Given the description of an element on the screen output the (x, y) to click on. 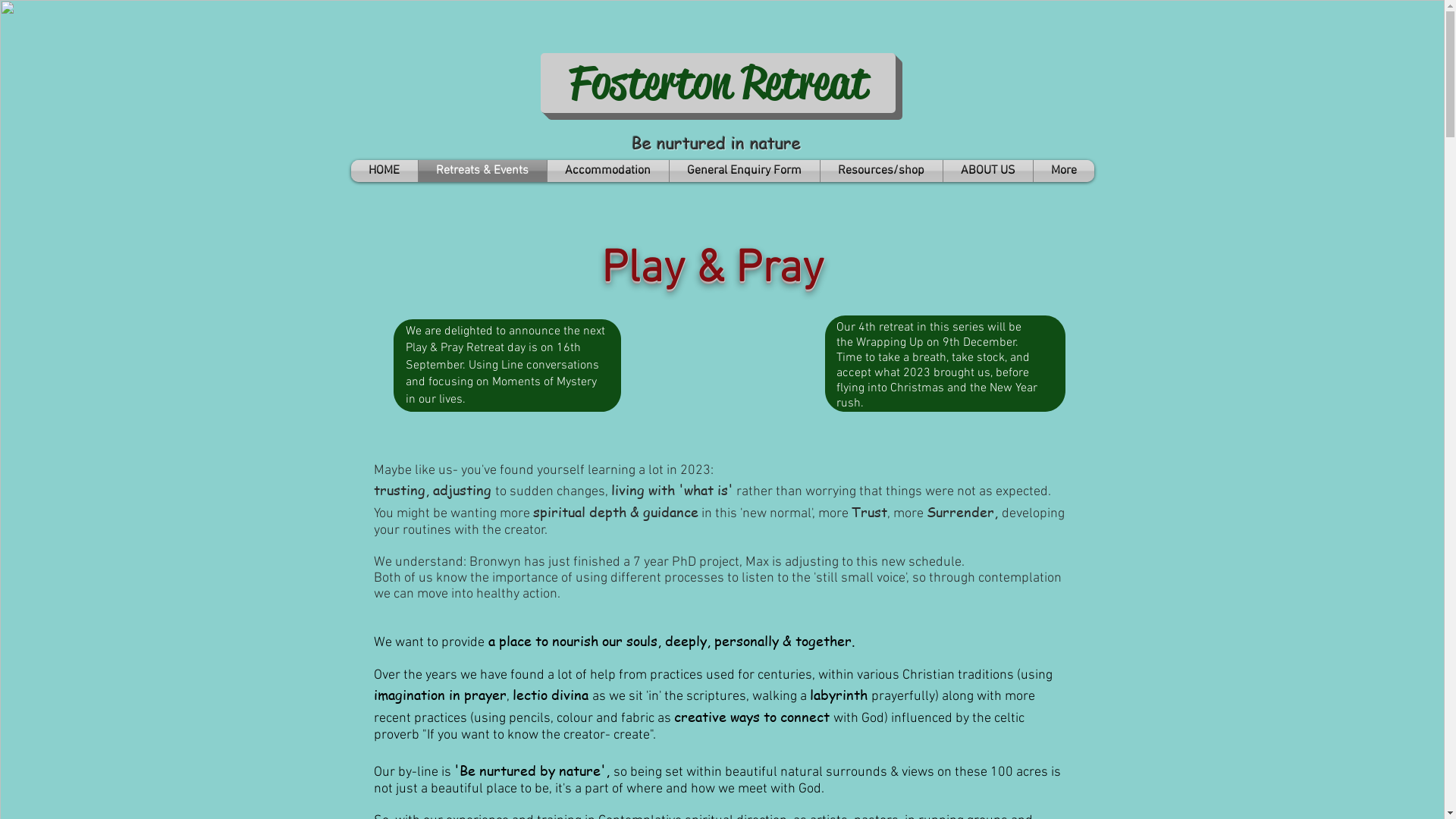
Fosterton Element type: text (649, 82)
General Enquiry Form Element type: text (743, 171)
Retreats & Events Element type: text (482, 171)
ABOUT US Element type: text (987, 171)
HOME Element type: text (383, 171)
Accommodation Element type: text (607, 171)
Resources/shop Element type: text (881, 171)
